Given the description of an element on the screen output the (x, y) to click on. 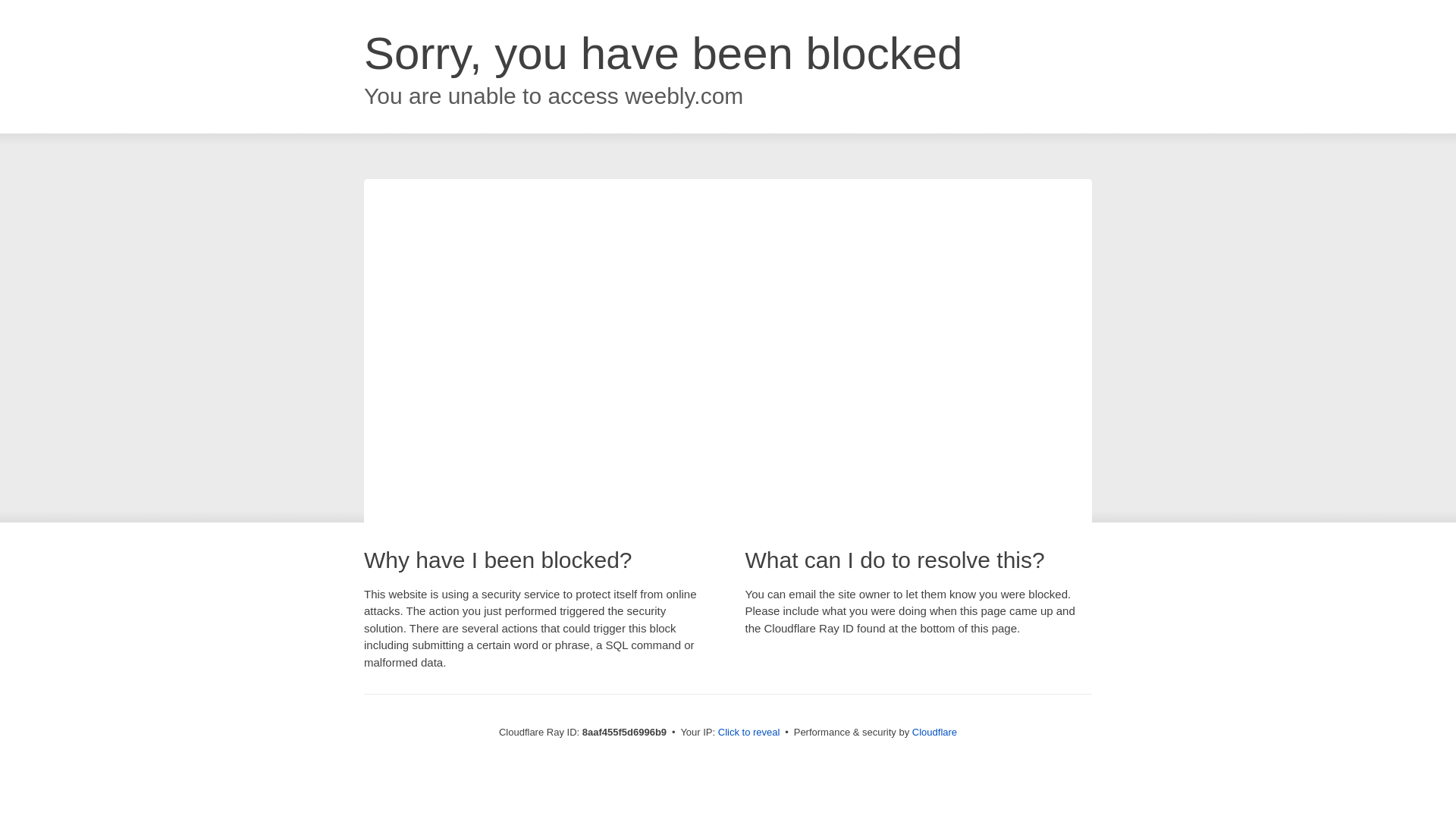
Click to reveal (748, 732)
Cloudflare (934, 731)
